Given the description of an element on the screen output the (x, y) to click on. 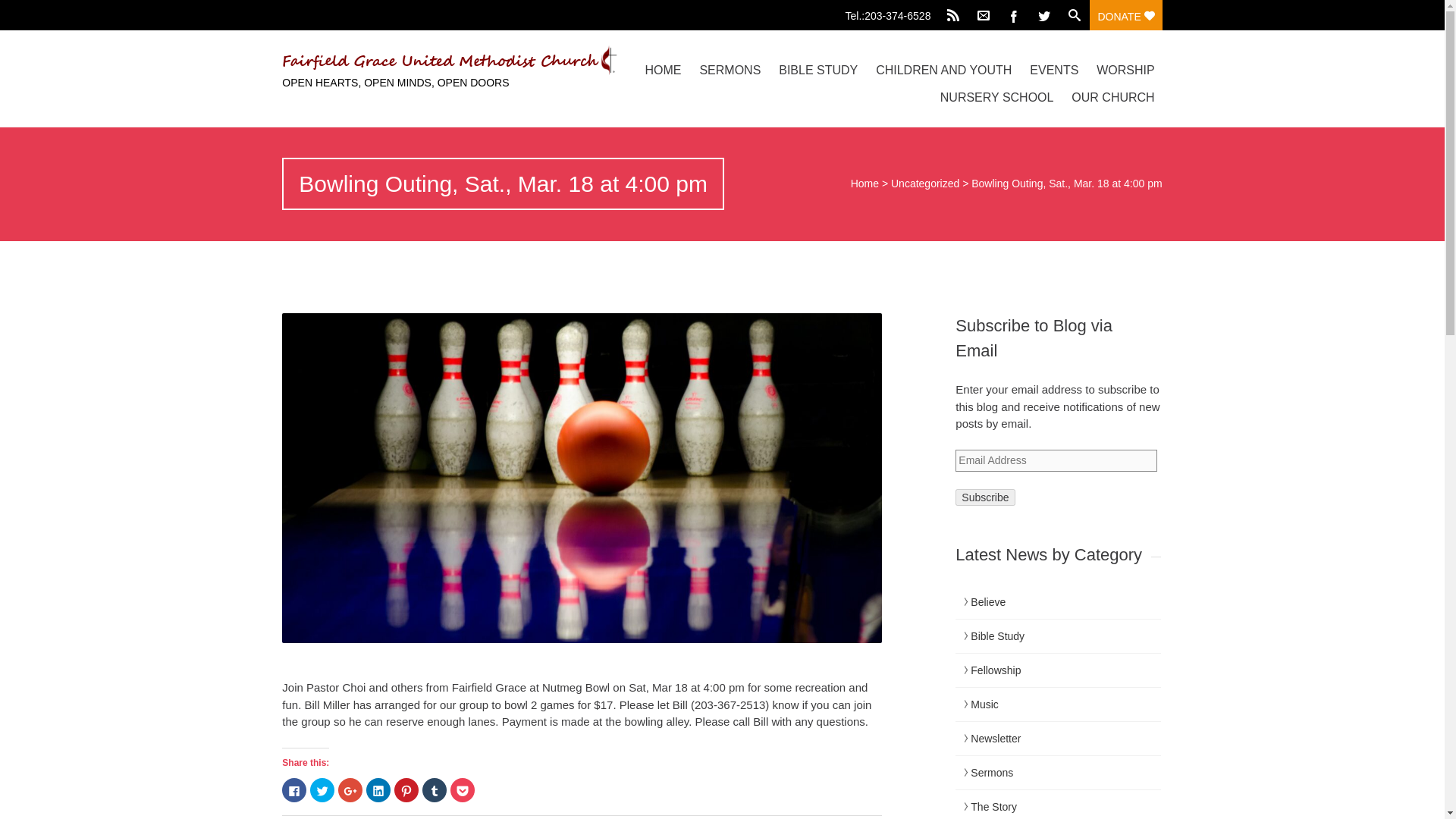
Tel.:203-374-6528 (892, 12)
BIBLE STUDY (817, 70)
Click to share on Tumblr (434, 790)
Fairfield Grace - Open Hearts, Open Minds, Open Doors (413, 60)
Uncategorized (925, 183)
EVENTS (1054, 70)
NURSERY SCHOOL (997, 97)
Click to share on Pinterest (406, 790)
Click to share on Facebook (293, 790)
Click to share on Twitter (322, 790)
